Given the description of an element on the screen output the (x, y) to click on. 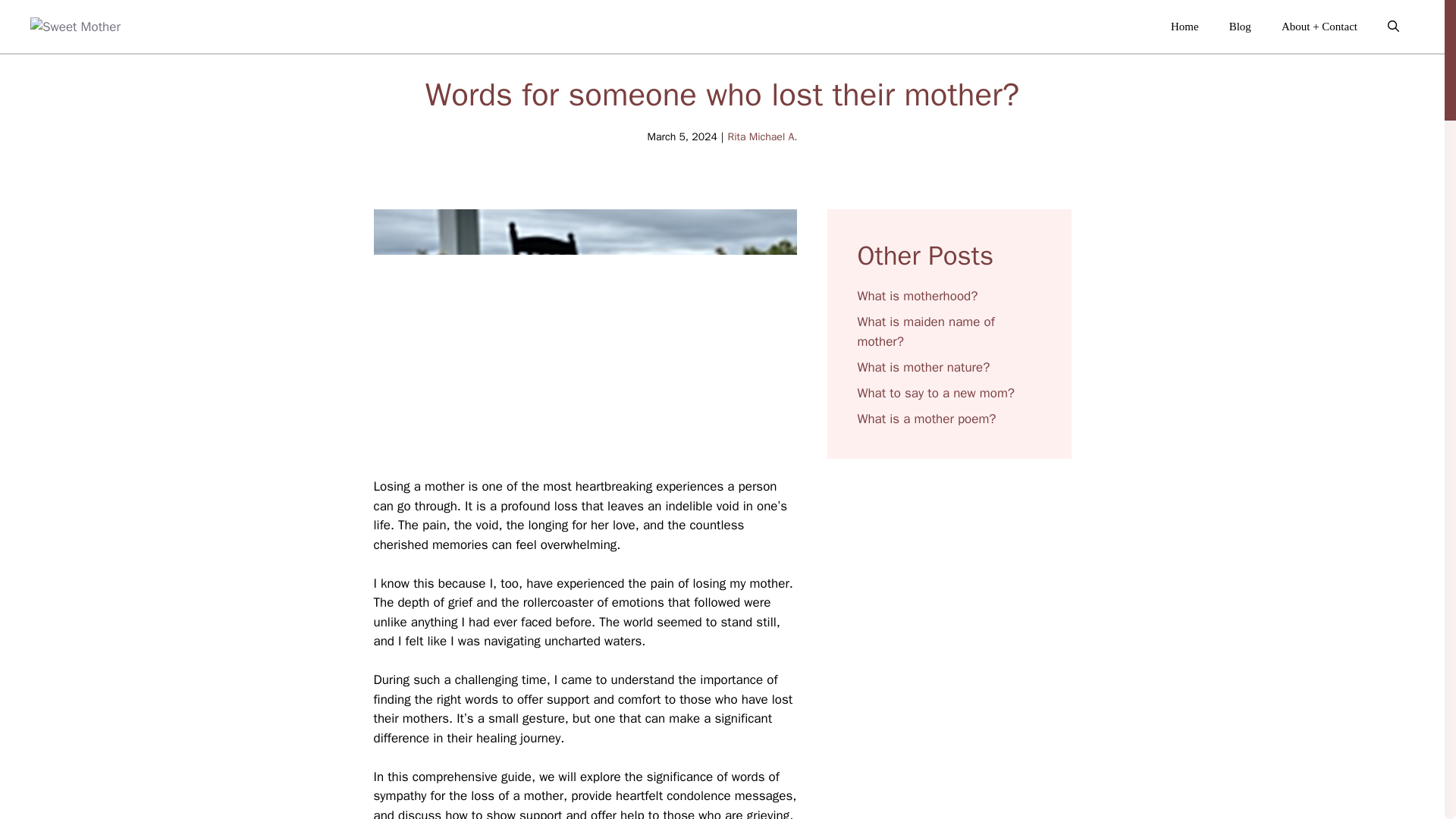
What to say to a new mom? (935, 392)
Rita Michael A. (761, 136)
What is mother nature? (923, 367)
Home (1185, 26)
What is maiden name of mother? (925, 331)
What is motherhood? (916, 295)
Blog (1240, 26)
What is a mother poem? (926, 418)
